Given the description of an element on the screen output the (x, y) to click on. 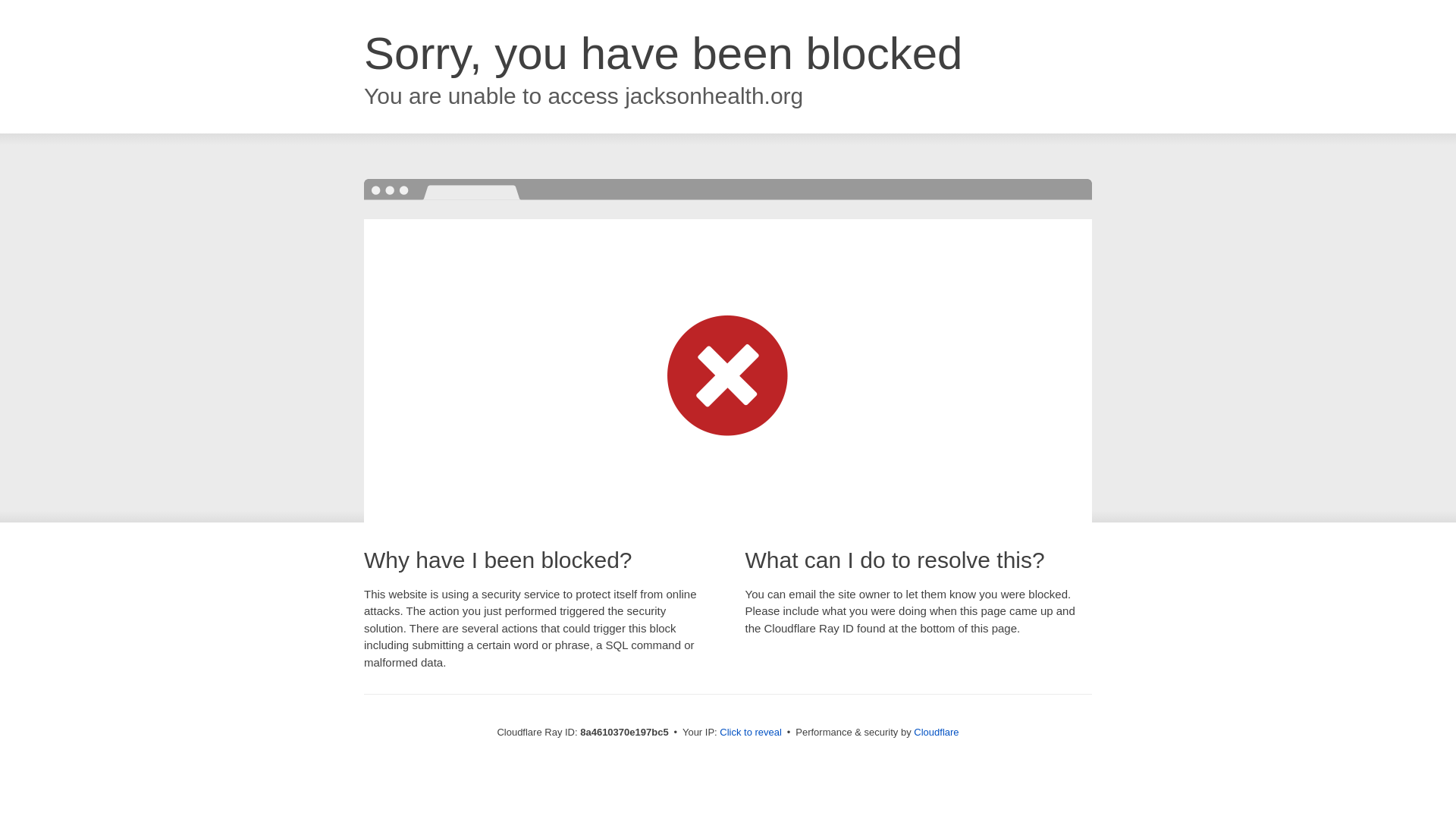
Cloudflare (936, 731)
Click to reveal (750, 732)
